Given the description of an element on the screen output the (x, y) to click on. 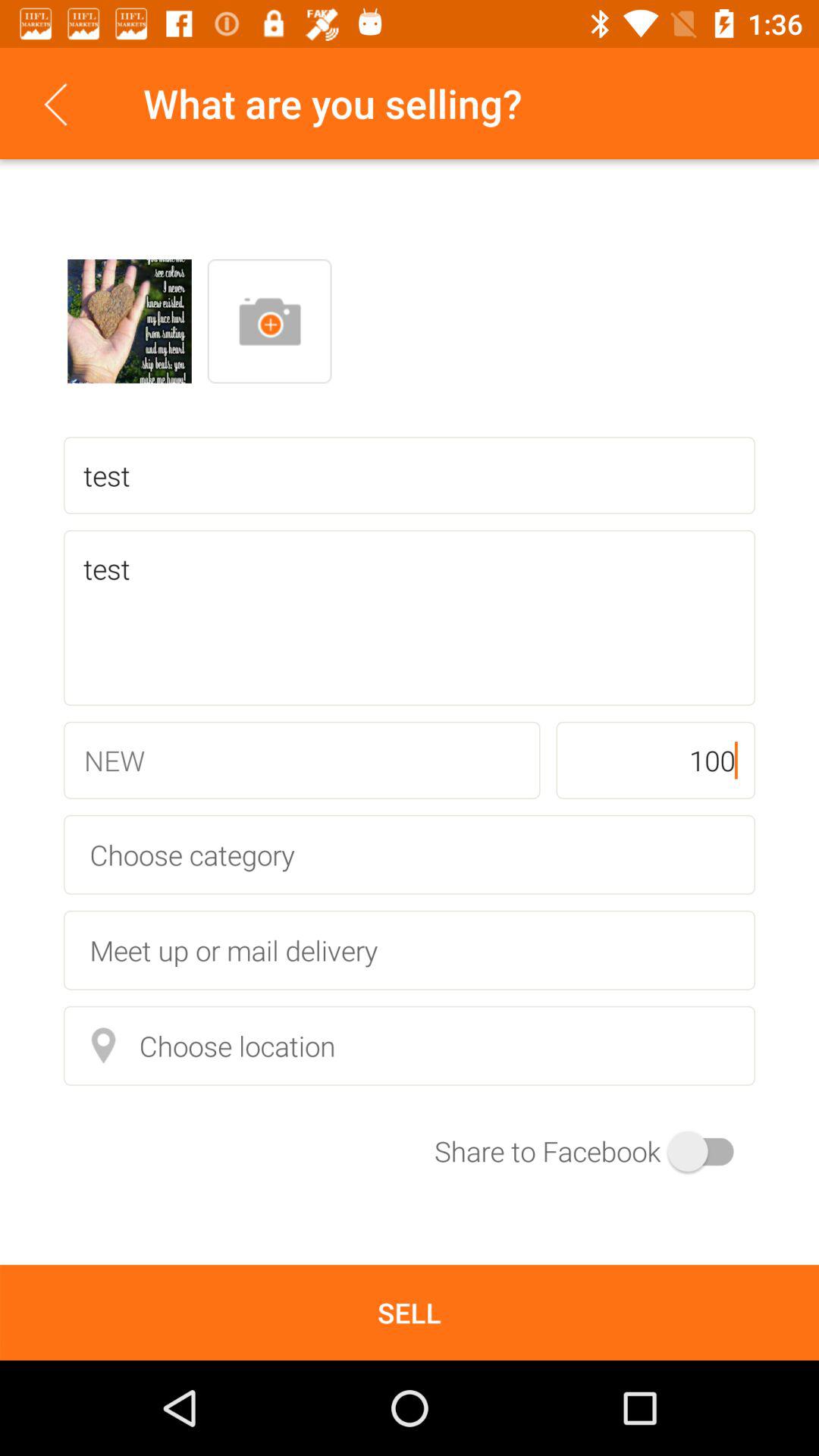
choose the item to the left of the what are you icon (55, 103)
